Given the description of an element on the screen output the (x, y) to click on. 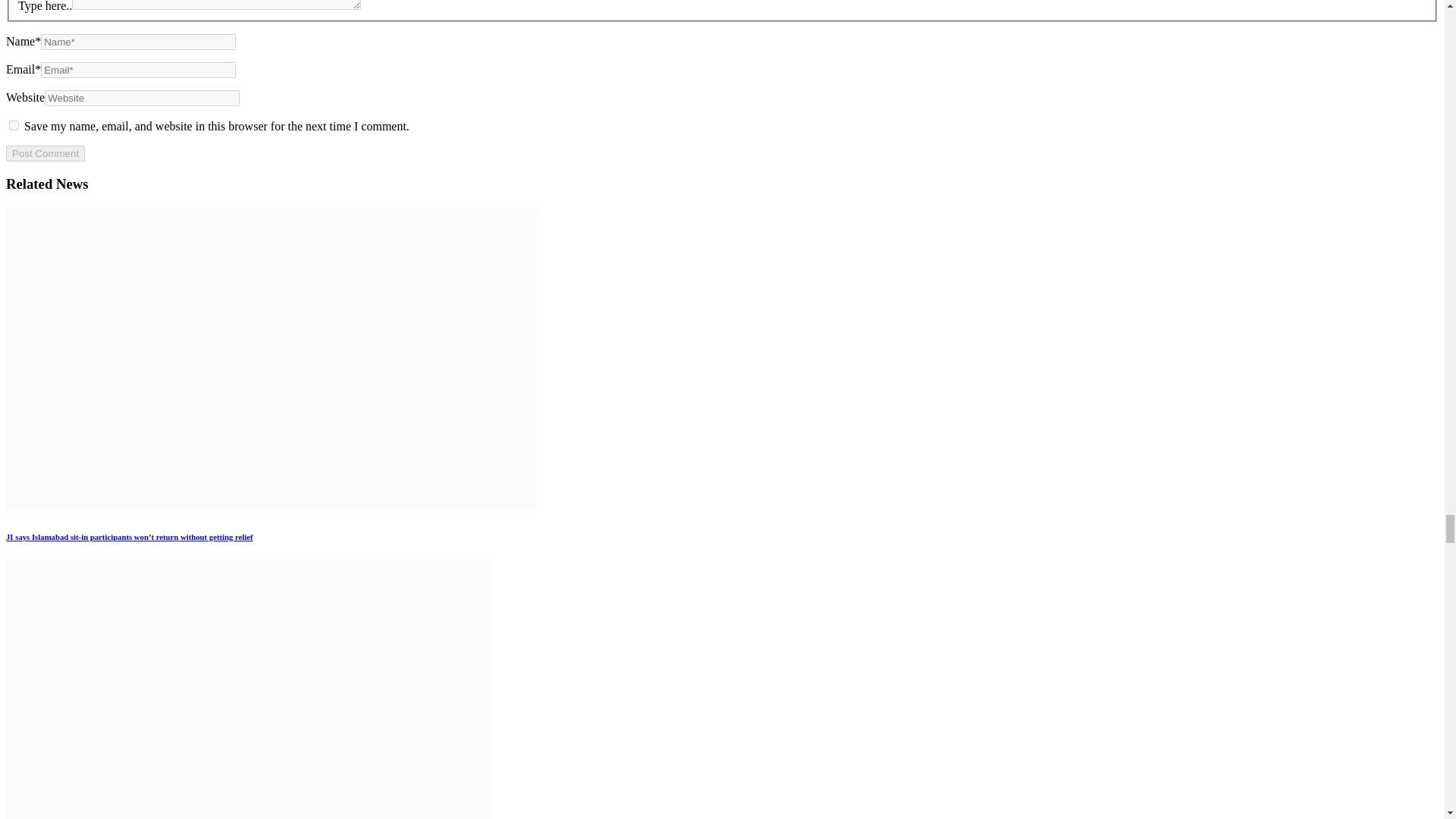
Post Comment (44, 153)
yes (13, 125)
